Given the description of an element on the screen output the (x, y) to click on. 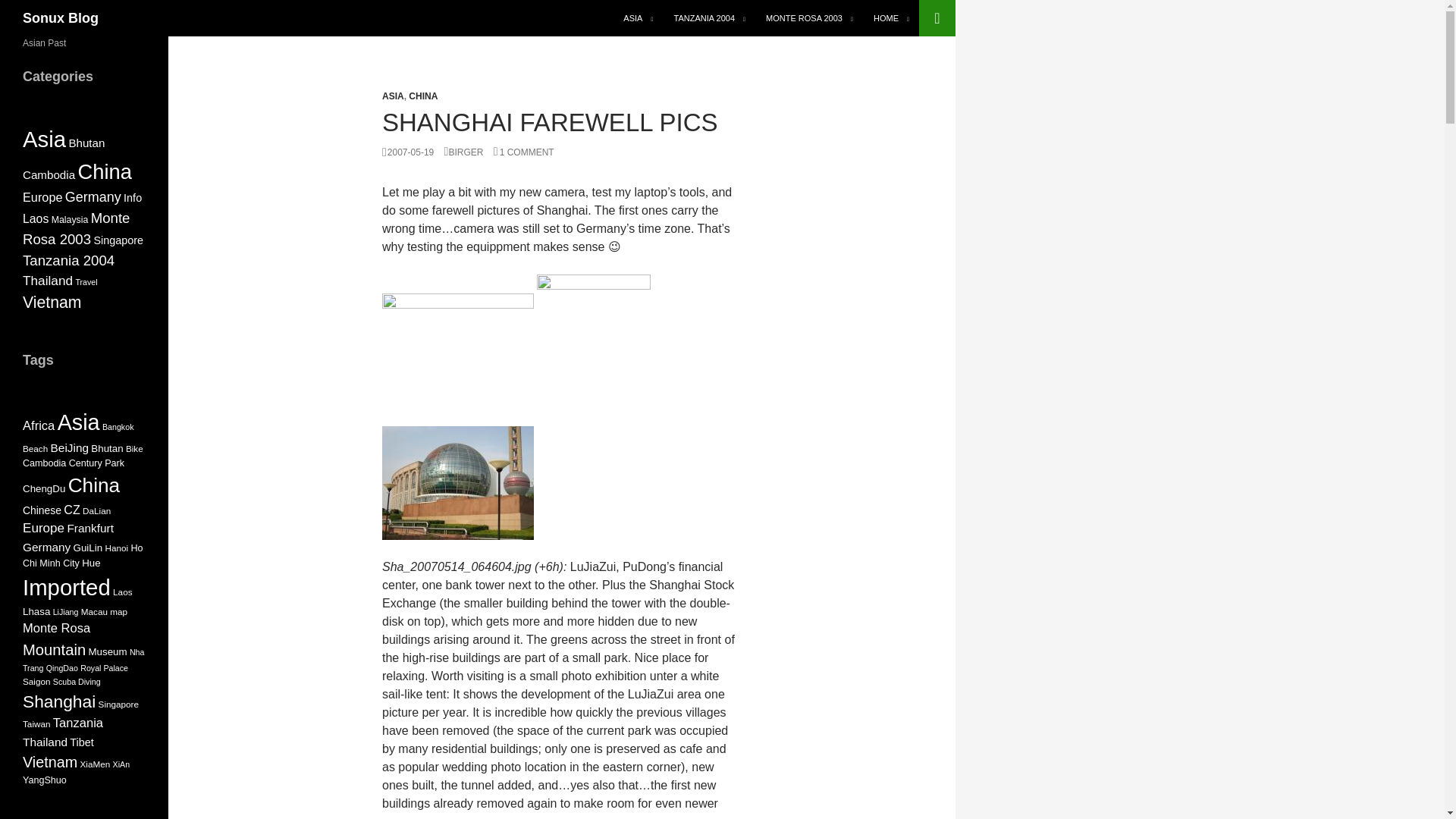
ASIA (392, 95)
LuJiaZui Banking Towers (457, 349)
Sonux Blog (61, 18)
1 COMMENT (523, 152)
CHINA (423, 95)
HOME (891, 18)
ASIA (638, 18)
MONTE ROSA 2003 (809, 18)
BIRGER (463, 152)
2007-05-19 (407, 152)
TANZANIA 2004 (708, 18)
